Given the description of an element on the screen output the (x, y) to click on. 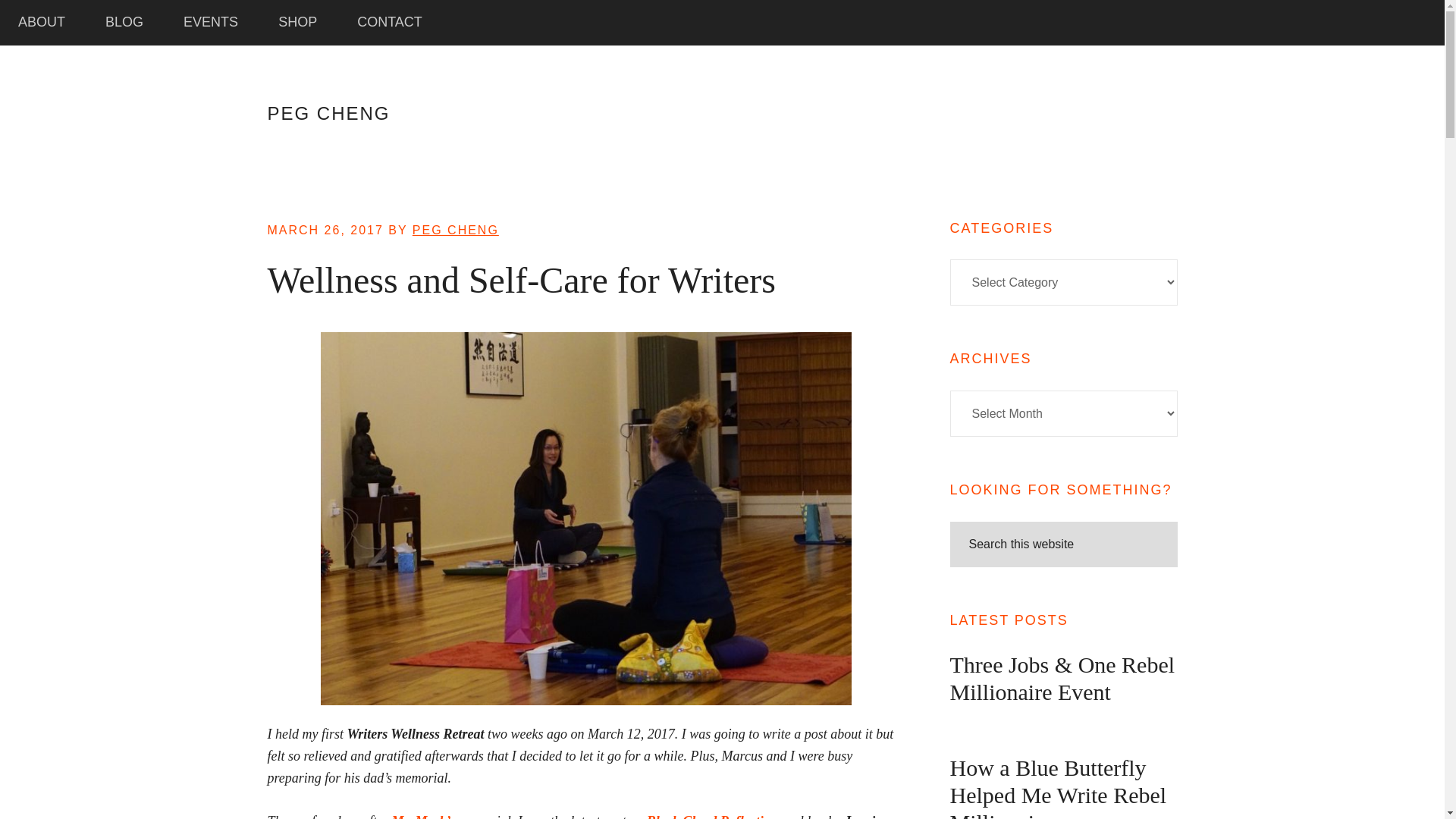
Black Cloud Reflections (714, 816)
EVENTS (210, 22)
How a Blue Butterfly Helped Me Write Rebel Millionaire (1057, 787)
PEG CHENG (455, 229)
ABOUT (41, 22)
CONTACT (389, 22)
PEG CHENG (328, 113)
